Given the description of an element on the screen output the (x, y) to click on. 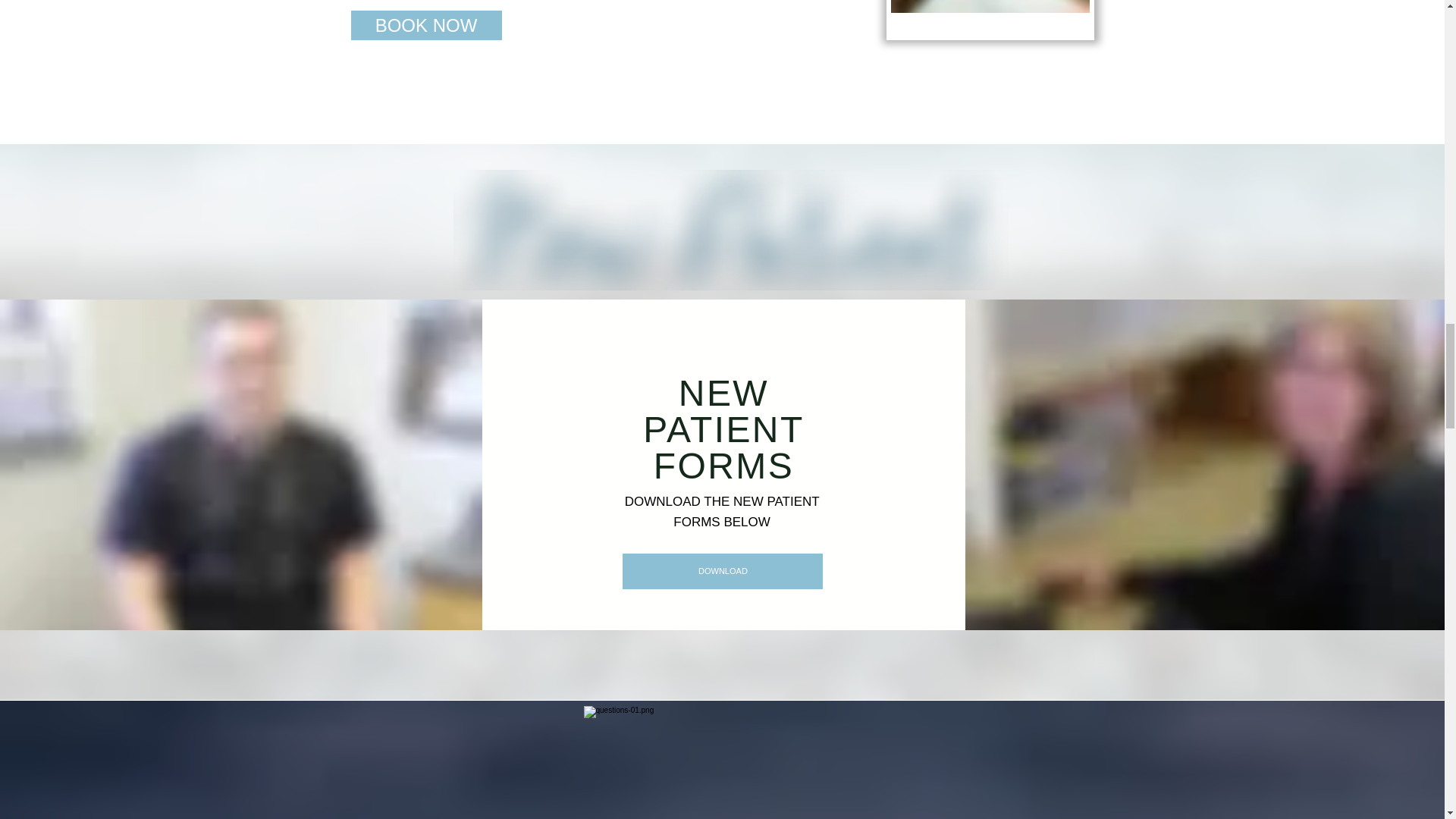
BOOK NOW (425, 25)
DOWNLOAD (722, 570)
